Given the description of an element on the screen output the (x, y) to click on. 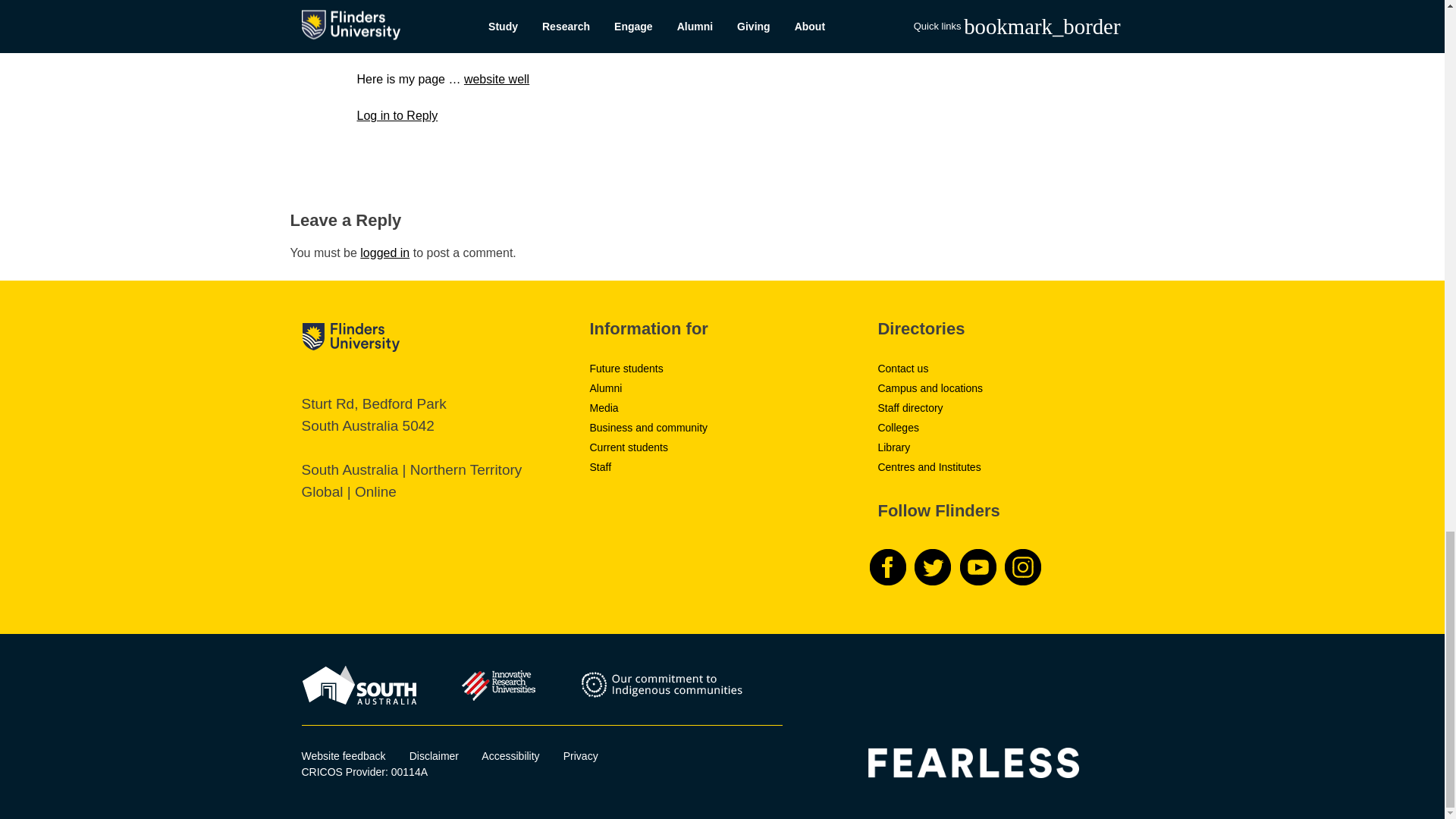
Future students (625, 368)
website well (496, 78)
Alumni (605, 387)
Log in to Reply (397, 115)
logged in (384, 252)
